Given the description of an element on the screen output the (x, y) to click on. 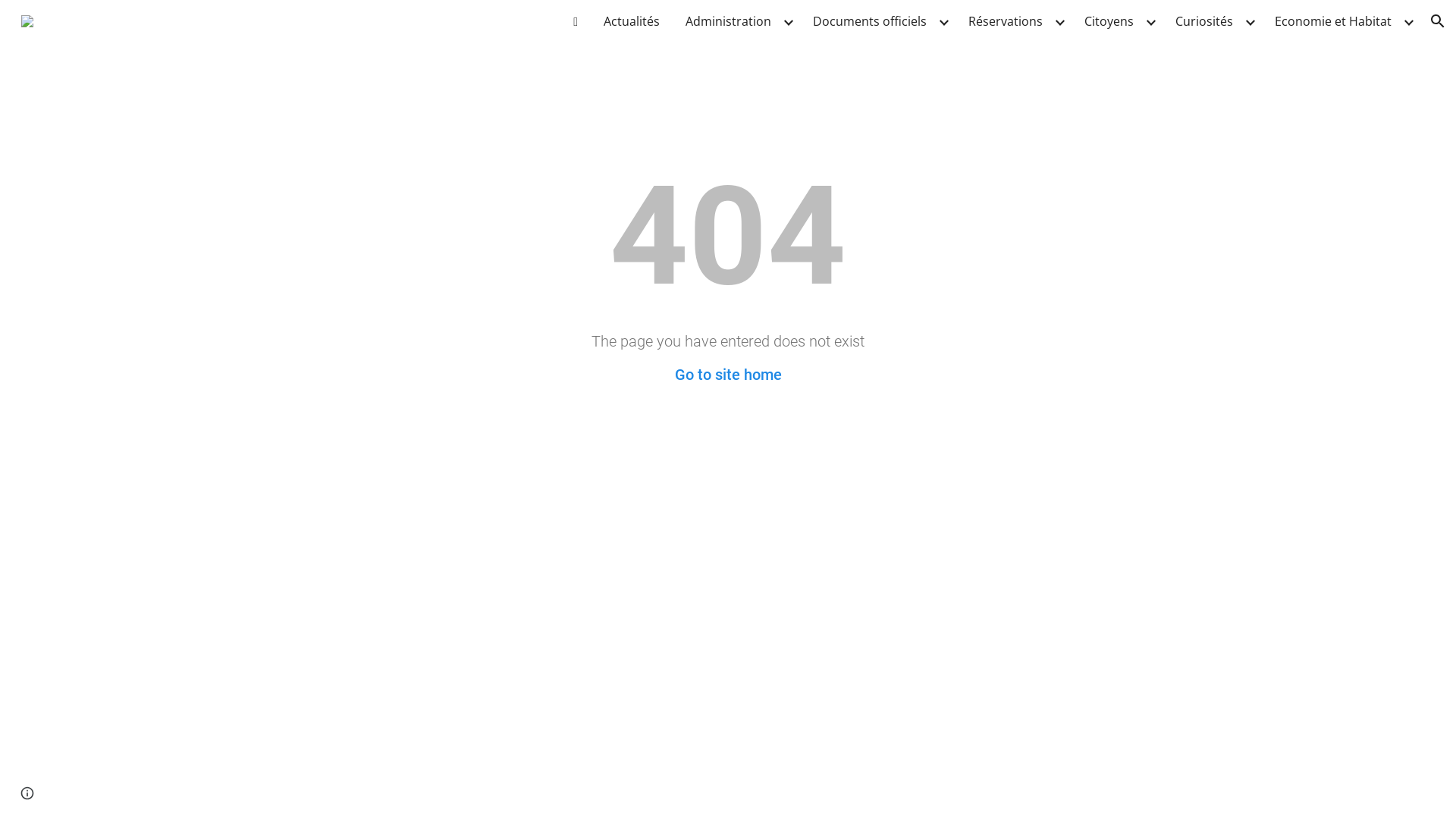
Go to site home Element type: text (727, 374)
Expand/Collapse Element type: hover (1408, 20)
Economie et Habitat Element type: text (1333, 20)
Expand/Collapse Element type: hover (1249, 20)
Expand/Collapse Element type: hover (787, 20)
Expand/Collapse Element type: hover (1059, 20)
Citoyens Element type: text (1108, 20)
Administration Element type: text (727, 20)
Expand/Collapse Element type: hover (943, 20)
Expand/Collapse Element type: hover (1150, 20)
Documents officiels Element type: text (869, 20)
